Given the description of an element on the screen output the (x, y) to click on. 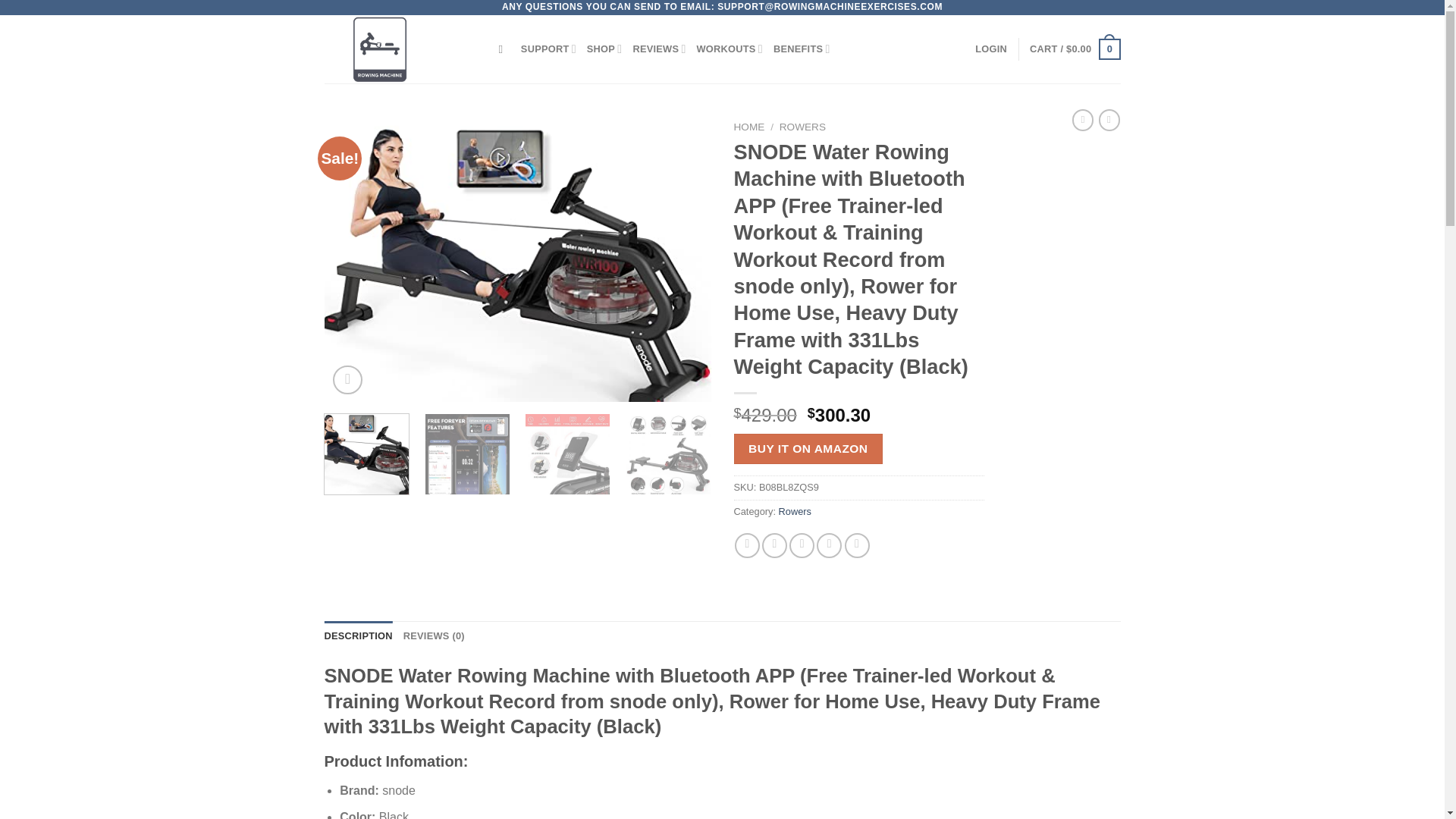
WORKOUTS (729, 49)
SUPPORT (548, 49)
BENEFITS (801, 49)
REVIEWS (658, 49)
Cart (1074, 48)
Rowing Machine Exercises - Fitness Equipment (400, 49)
SHOP (604, 49)
